Given the description of an element on the screen output the (x, y) to click on. 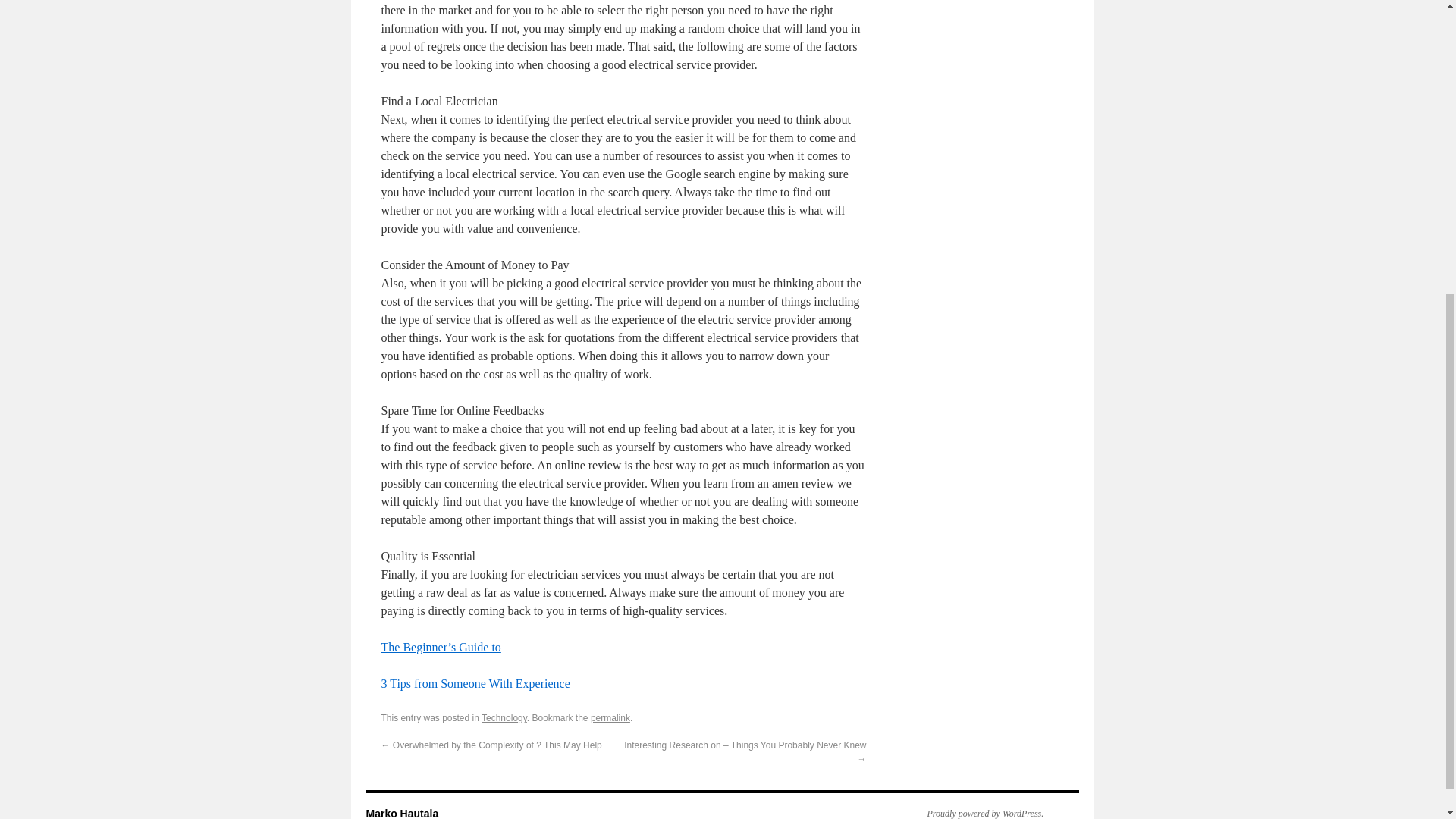
3 Tips from Someone With Experience (474, 683)
permalink (610, 717)
Technology (504, 717)
